Given the description of an element on the screen output the (x, y) to click on. 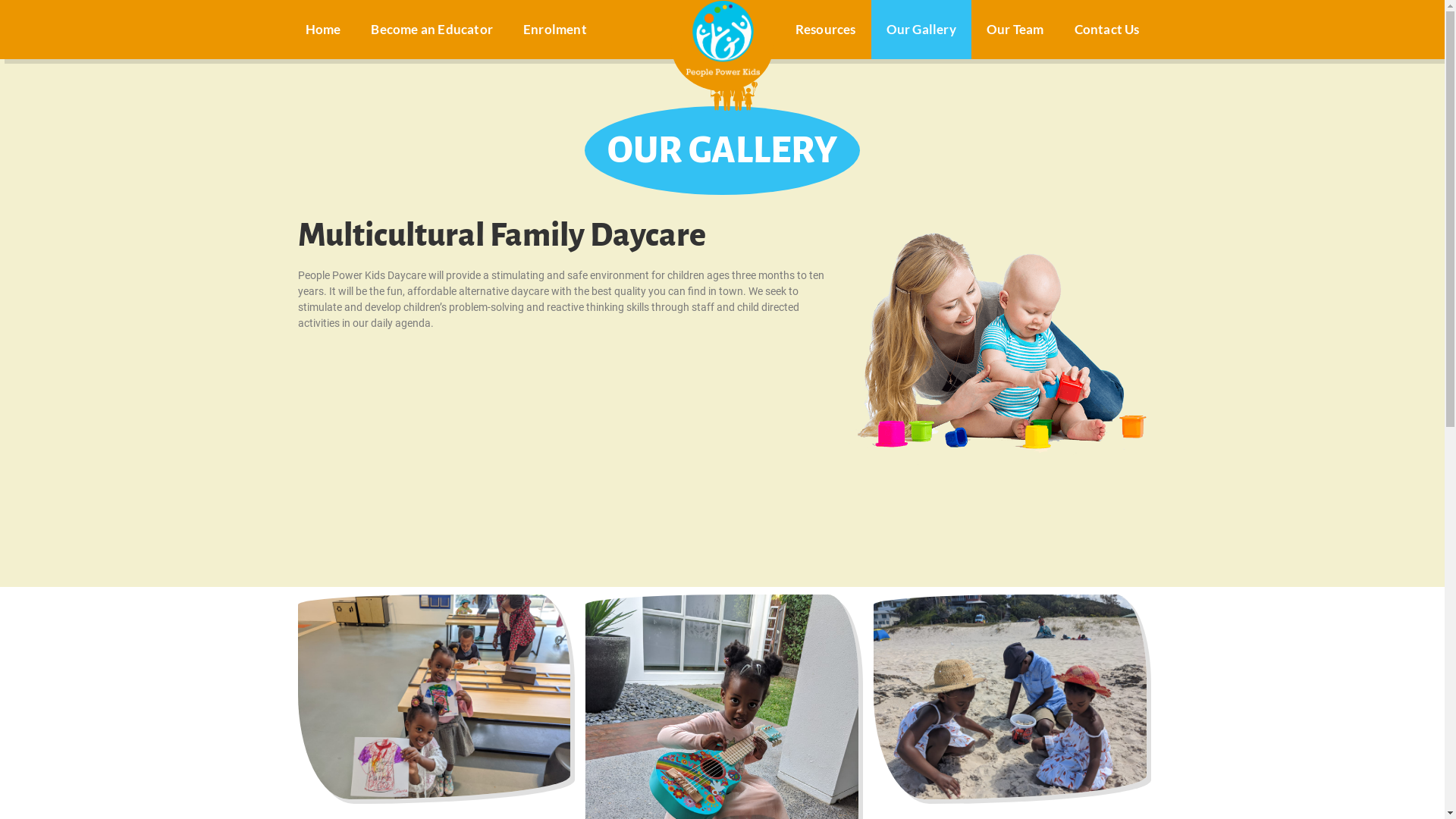
Resources Element type: text (825, 29)
Become an Educator Element type: text (431, 29)
Enrolment Element type: text (555, 29)
Home Element type: text (322, 29)
Our Gallery Element type: text (921, 29)
Contact Us Element type: text (1106, 29)
Our Team Element type: text (1015, 29)
